Given the description of an element on the screen output the (x, y) to click on. 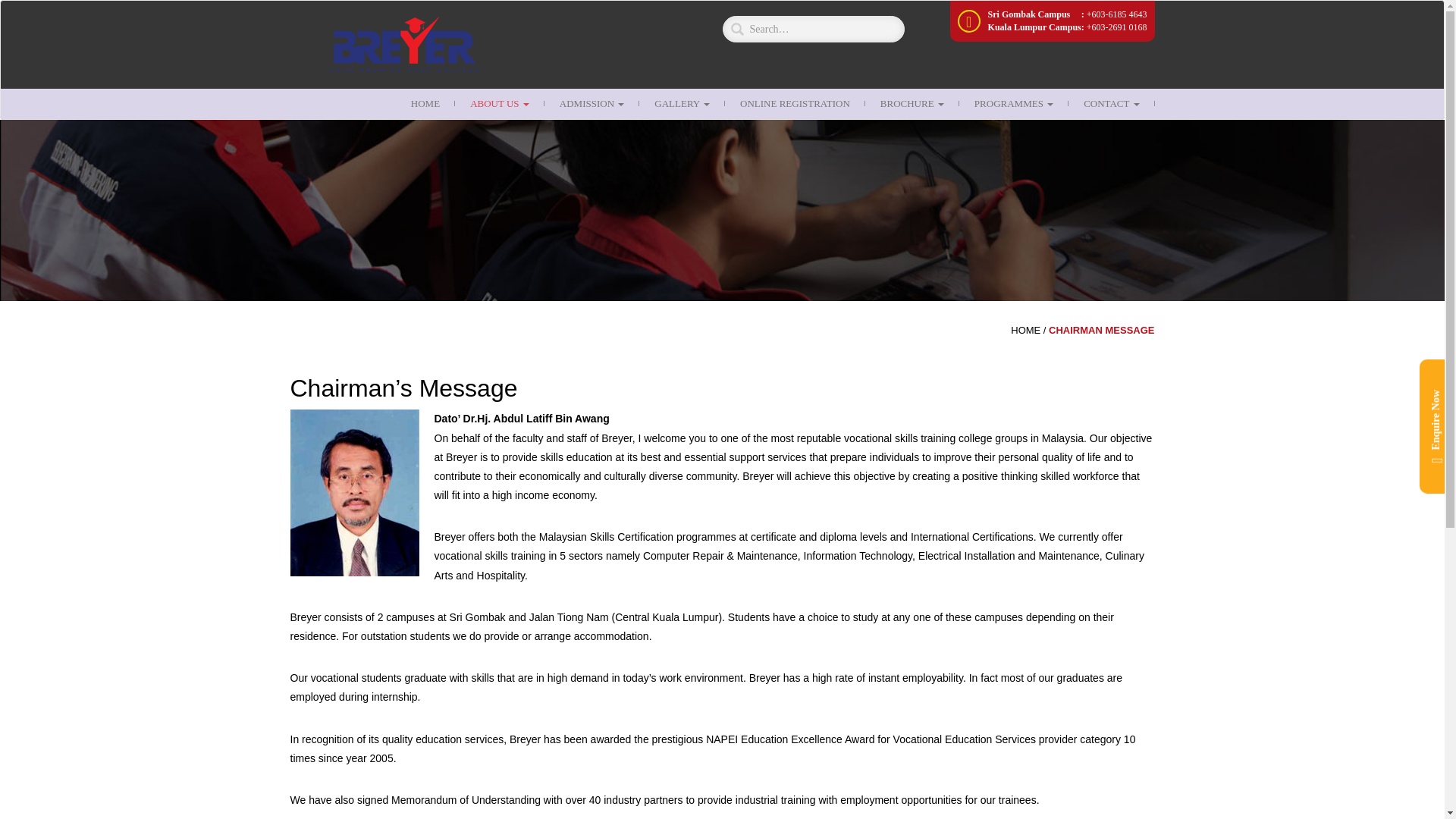
Brochure (911, 103)
ABOUT US (499, 103)
Gallery (682, 103)
Admission (591, 103)
BROCHURE (911, 103)
ADMISSION (591, 103)
Home (425, 103)
HOME (425, 103)
About Us (499, 103)
HOME (1025, 329)
PROGRAMMES (1013, 103)
Online Registration (794, 103)
CONTACT (1111, 103)
GALLERY (682, 103)
ONLINE REGISTRATION (794, 103)
